Given the description of an element on the screen output the (x, y) to click on. 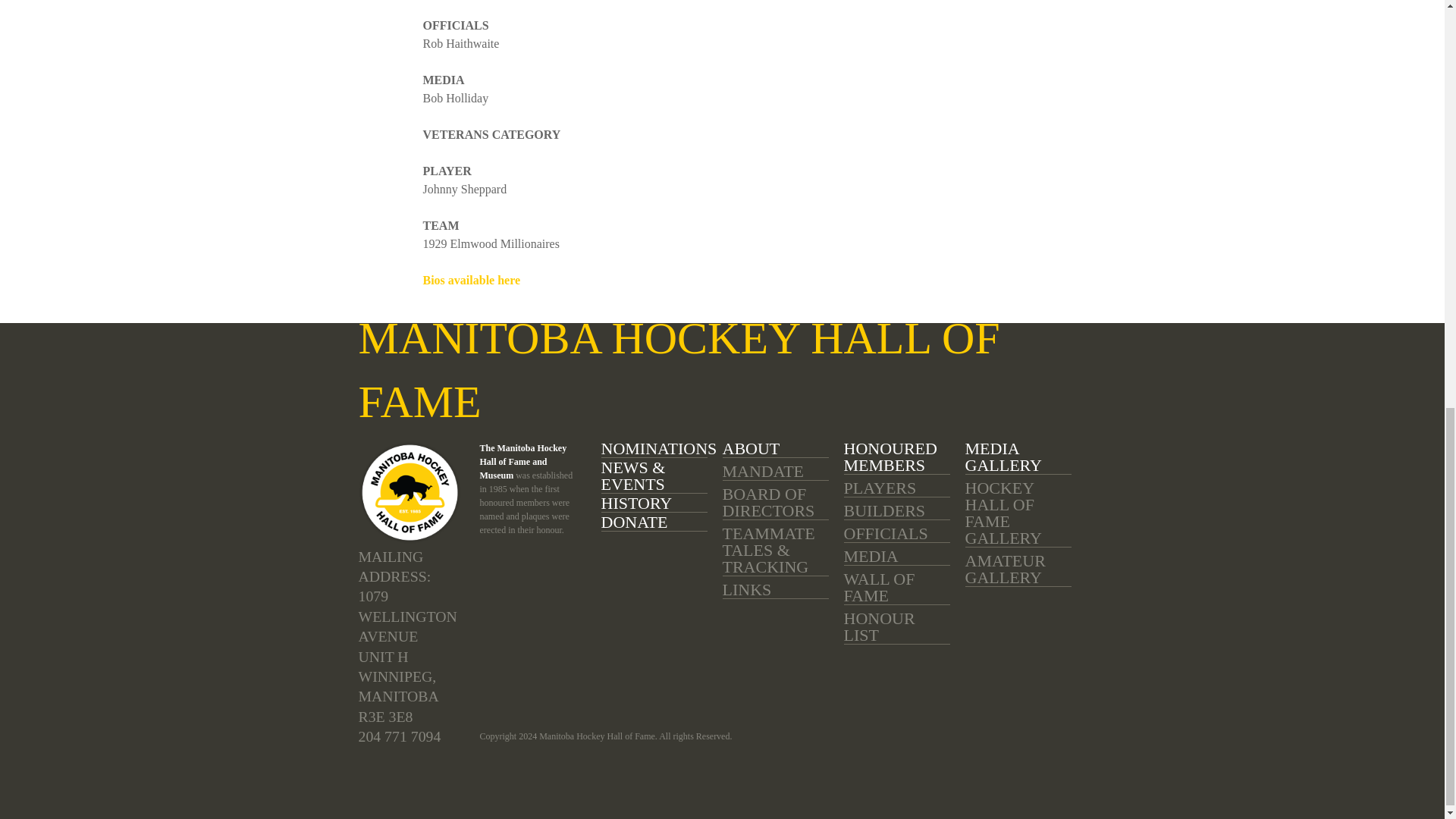
Bios available here (472, 279)
